Given the description of an element on the screen output the (x, y) to click on. 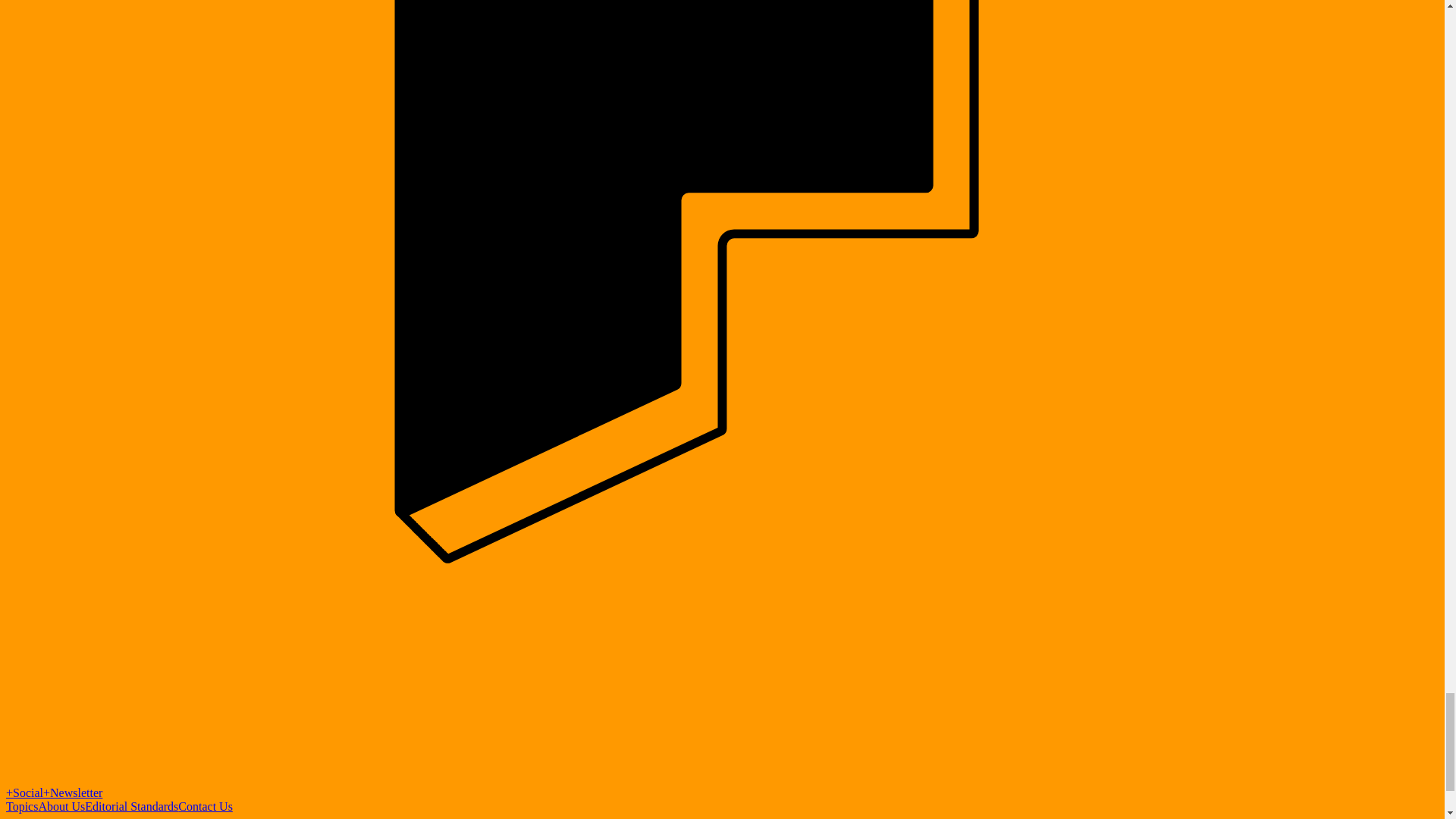
Topics (21, 806)
Editorial Standards (130, 806)
About Us (60, 806)
Contact Us (204, 806)
